Given the description of an element on the screen output the (x, y) to click on. 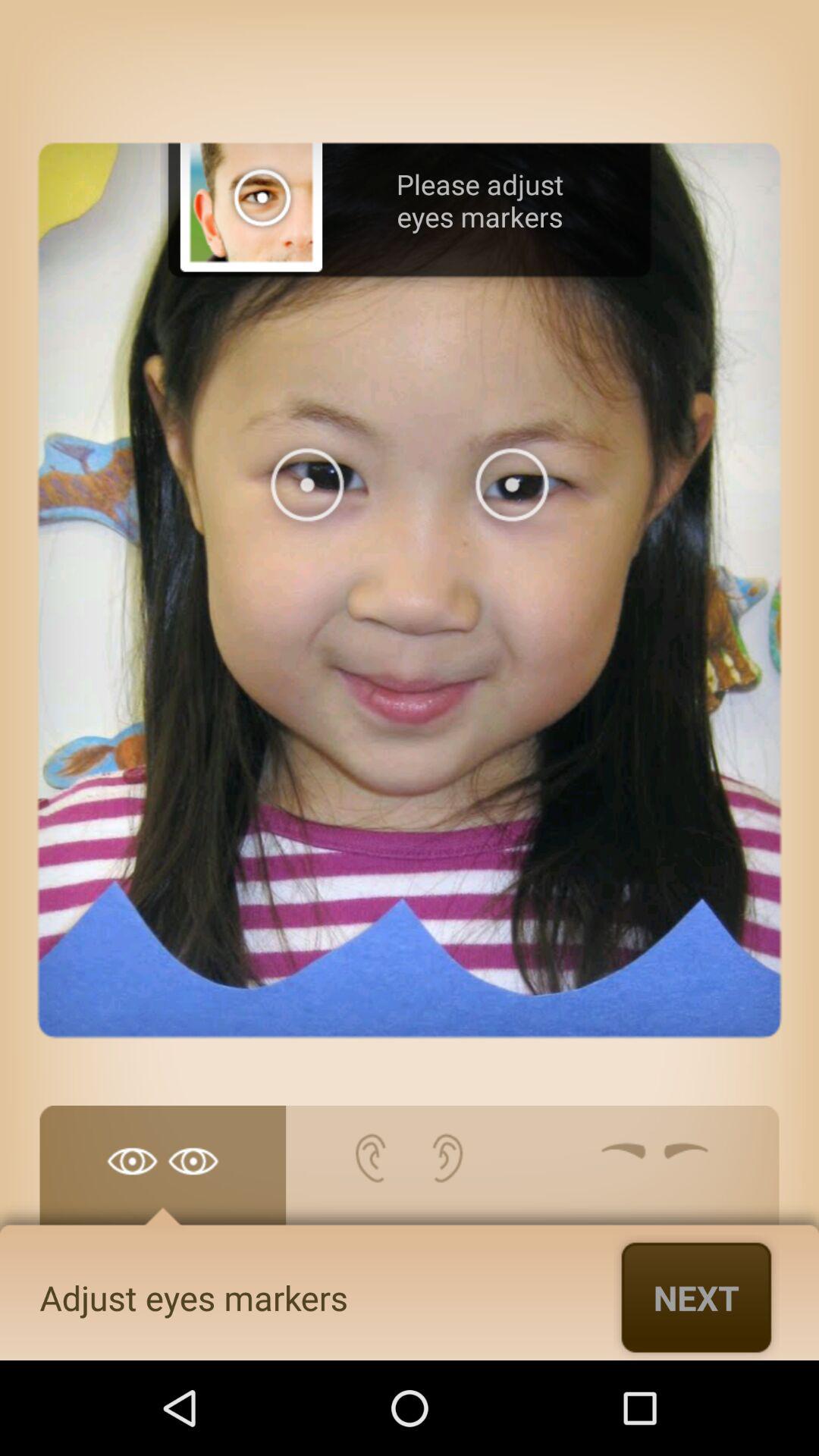
click the ear sympol (409, 1173)
